Given the description of an element on the screen output the (x, y) to click on. 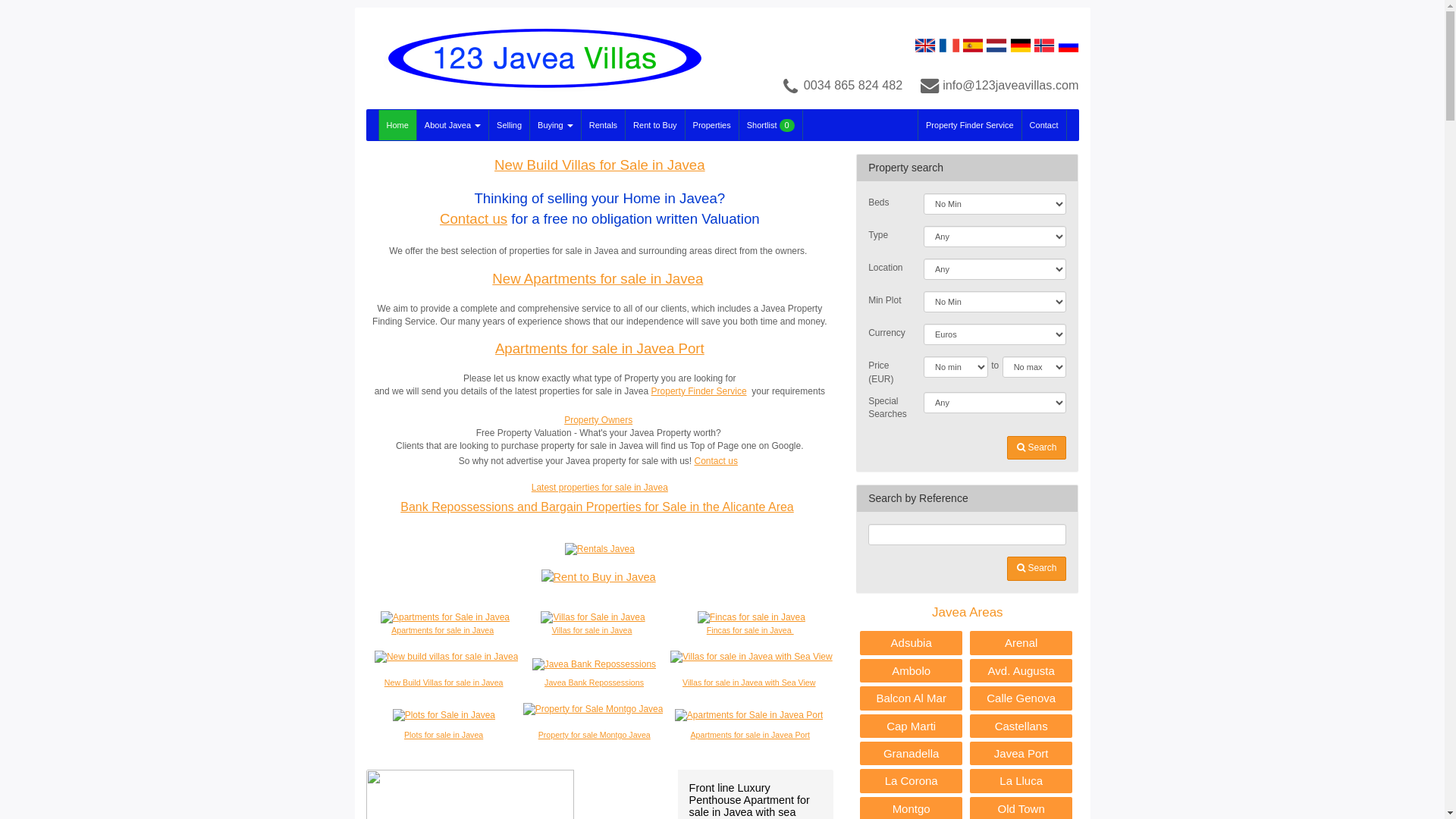
Buying Element type: text (554, 124)
Plots for sale in Javea Element type: text (443, 734)
La Lluca Element type: text (1020, 780)
English Element type: hover (924, 44)
Villas for sale in Javea with Sea View Element type: hover (751, 656)
Property for sale Montgo Javea Element type: text (594, 734)
Calle Genova Element type: text (1020, 697)
Latest properties for sale in Javea Element type: text (599, 487)
New Build Villas for sale in Javea Element type: text (443, 682)
Javea Areas Element type: text (967, 612)
Apartments for sale in Javea Element type: text (442, 629)
Javea Bank Repossessions Element type: text (593, 682)
Search Element type: text (1036, 568)
Properties Element type: text (711, 124)
Apartments for sale in Javea Port Element type: text (599, 348)
New Apartments for sale in Javea Element type: text (597, 278)
Javea Bank Repossessions Element type: hover (593, 663)
Fincas for sale in Javea  Element type: text (749, 629)
La Corona Element type: text (910, 780)
Property Owners Element type: text (598, 419)
Villas for sale in Javea Element type: text (592, 629)
Fincas for sale in Javea Element type: hover (751, 616)
Home Element type: text (396, 124)
German Element type: hover (1020, 44)
Contact us Element type: text (715, 460)
Avd. Augusta Element type: text (1020, 670)
Balcon Al Mar Element type: text (910, 697)
Ambolo Element type: text (910, 670)
About Javea Element type: text (452, 124)
French Element type: hover (949, 44)
Javea Port Element type: text (1020, 753)
Rent to Buy in Javea Element type: hover (598, 576)
Property Finder Service Element type: text (698, 390)
Plots for Sale in Javea Element type: hover (443, 714)
Property Finder Service Element type: text (969, 124)
Granadella Element type: text (910, 753)
Rentals Element type: text (602, 124)
Rentals Javea Element type: hover (599, 548)
Shortlist 0 Element type: text (770, 124)
Adsubia Element type: text (910, 642)
Apartments for Sale in Javea Element type: hover (444, 616)
New Build Villas for Sale in Javea Element type: text (599, 164)
123 Javea Villas - Villas for sale in Javea Element type: hover (538, 58)
Arenal Element type: text (1020, 642)
Villas for sale in Javea with Sea View Element type: text (748, 682)
Villas for Sale in Javea Element type: hover (592, 616)
Contact us Element type: text (473, 218)
Selling Element type: text (508, 124)
Apartments for sale in Javea Port Element type: text (749, 734)
Contact Element type: text (1043, 124)
Cap Marti Element type: text (910, 725)
New build villas for sale in Javea Element type: hover (445, 656)
Spanish Element type: hover (972, 44)
Rent to Buy Element type: text (654, 124)
Russian Element type: hover (1067, 44)
Search Element type: text (1036, 447)
Dutch Element type: hover (996, 44)
Norwegian Element type: hover (1043, 44)
Castellans Element type: text (1020, 725)
Property for Sale Montgo Javea Element type: hover (593, 707)
Apartments for Sale in Javea Port Element type: hover (748, 714)
